Given the description of an element on the screen output the (x, y) to click on. 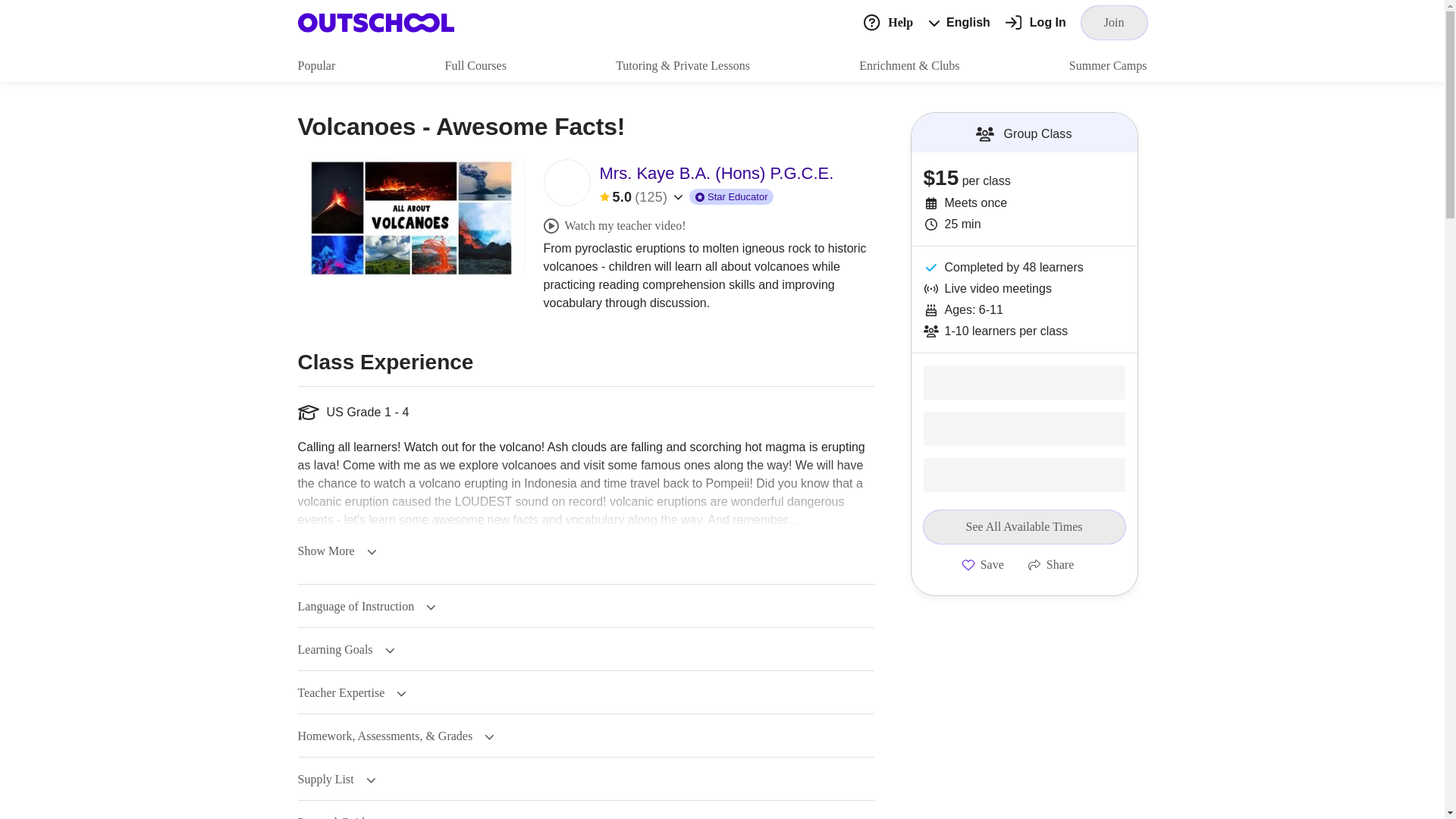
Learning Goals (345, 649)
Help (887, 21)
Summer Camps (1107, 65)
Parental Guidance (353, 817)
See All Available Times (1024, 526)
Show More (336, 551)
Join (1114, 22)
Language of Instruction (366, 606)
Teacher Expertise (351, 693)
Watch my teacher video! (614, 225)
